Given the description of an element on the screen output the (x, y) to click on. 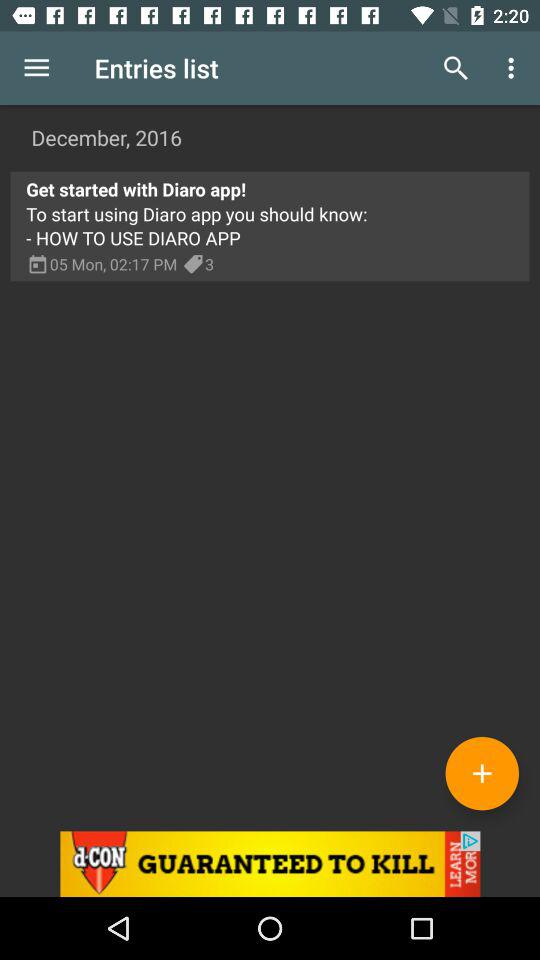
go to the advertised site (270, 864)
